Given the description of an element on the screen output the (x, y) to click on. 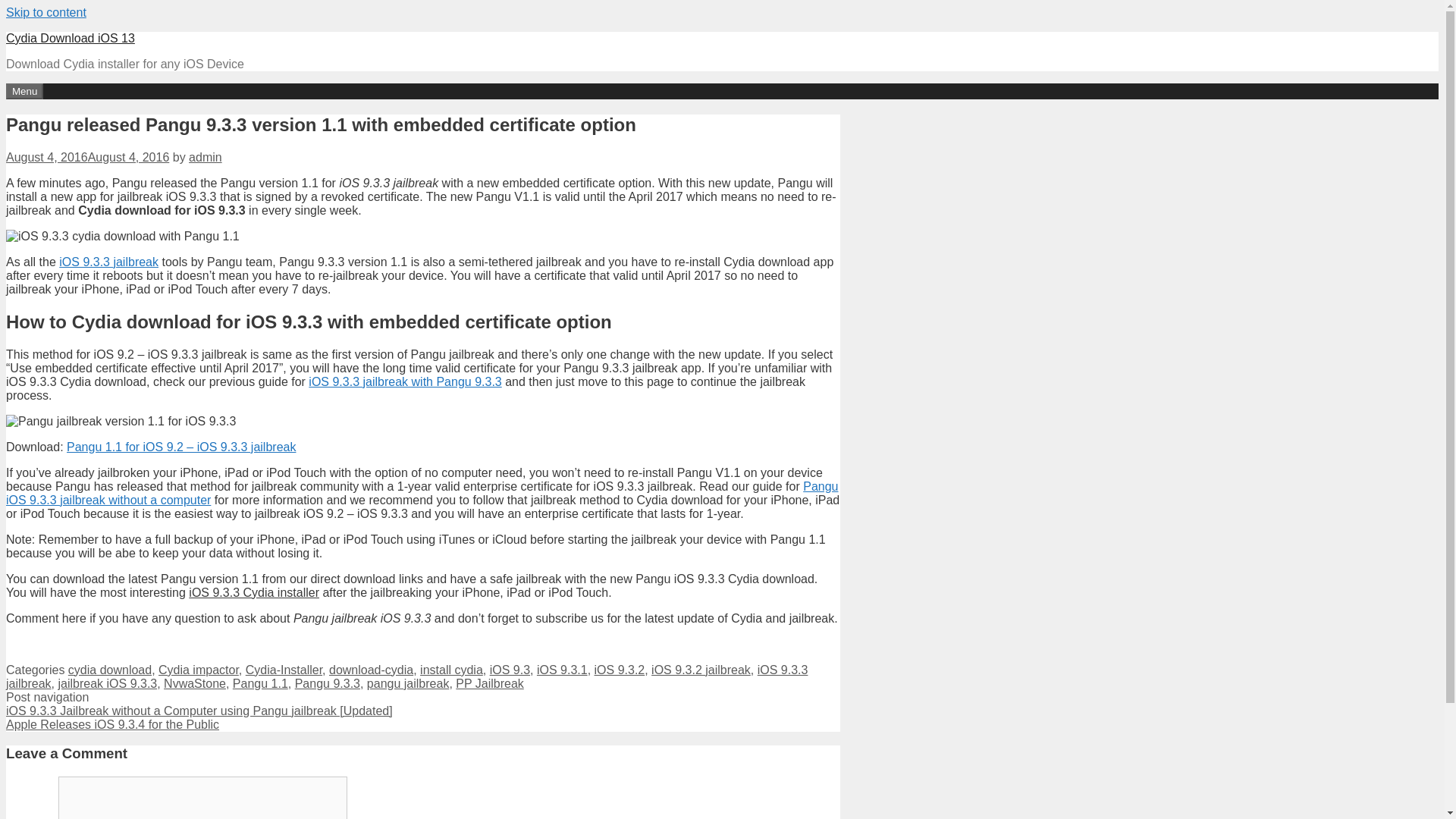
iOS 9.3.3 jailbreak (108, 261)
Cydia impactor (198, 669)
iOS 9.3 (509, 669)
iOS 9.3.2 (619, 669)
Pangu 1.1 (260, 683)
1:55 pm (86, 156)
Next (112, 724)
View all posts by admin (205, 156)
PP Jailbreak (489, 683)
cydia download (109, 669)
